Given the description of an element on the screen output the (x, y) to click on. 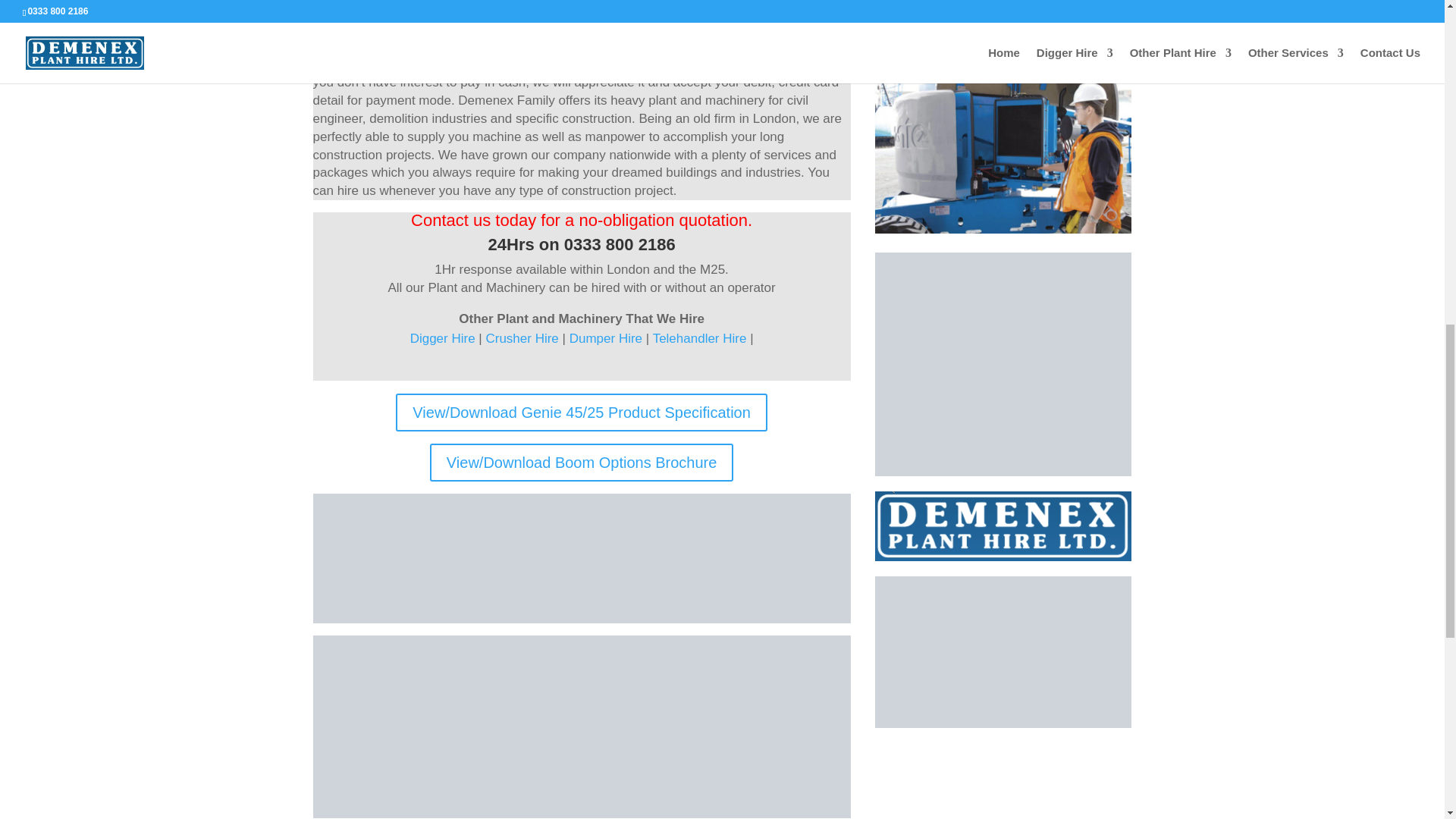
Telehandler Hire (699, 338)
cherry picker and plant hire (581, 558)
Digger Hire (444, 338)
cherry picker hire with operator london  (1003, 155)
Crusher Hire (520, 338)
Specificiation (581, 726)
cherry picker hire in london (1003, 33)
cherry picker boom extension hire (1003, 652)
Dumper Hire (605, 338)
cherry picker in operation london hire (1003, 364)
